Given the description of an element on the screen output the (x, y) to click on. 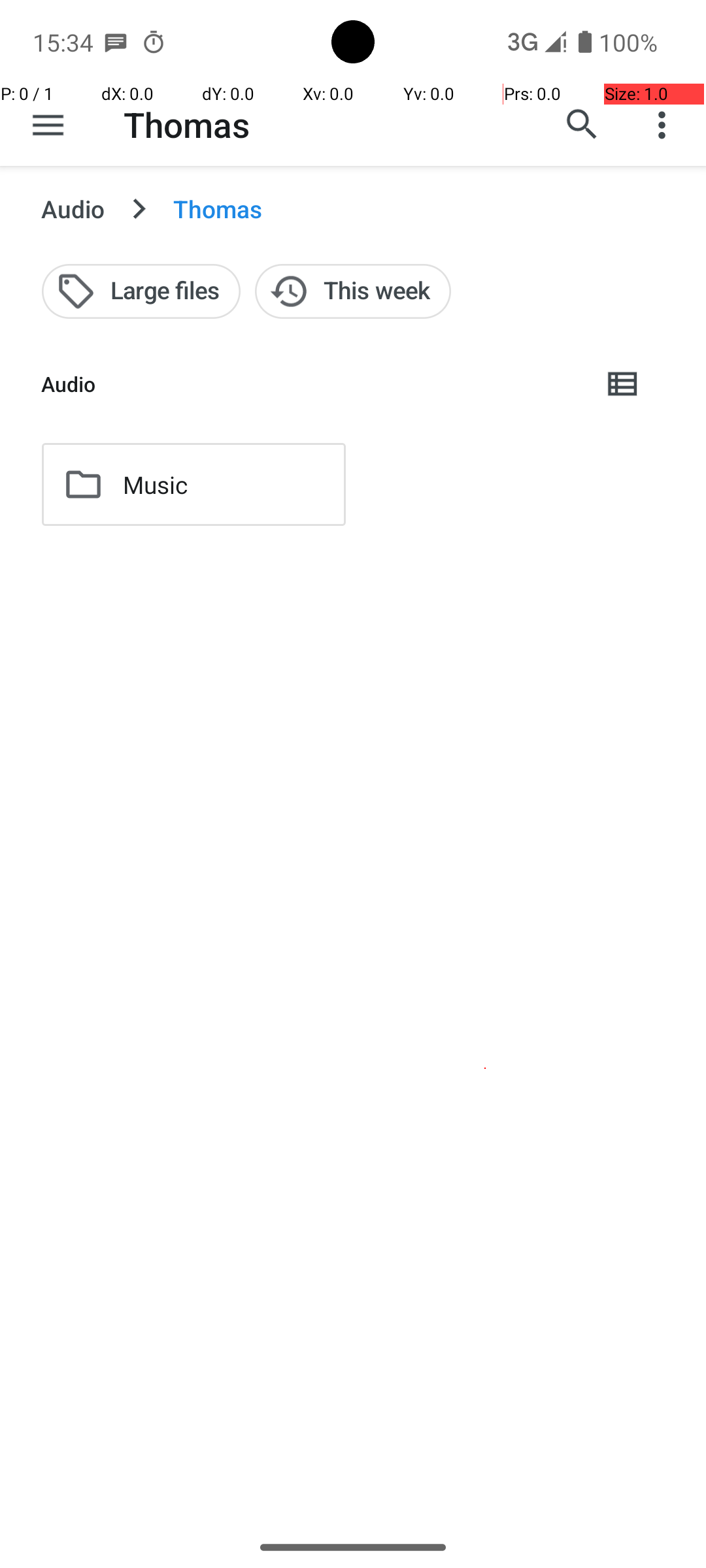
Thomas Element type: android.widget.TextView (186, 124)
